Given the description of an element on the screen output the (x, y) to click on. 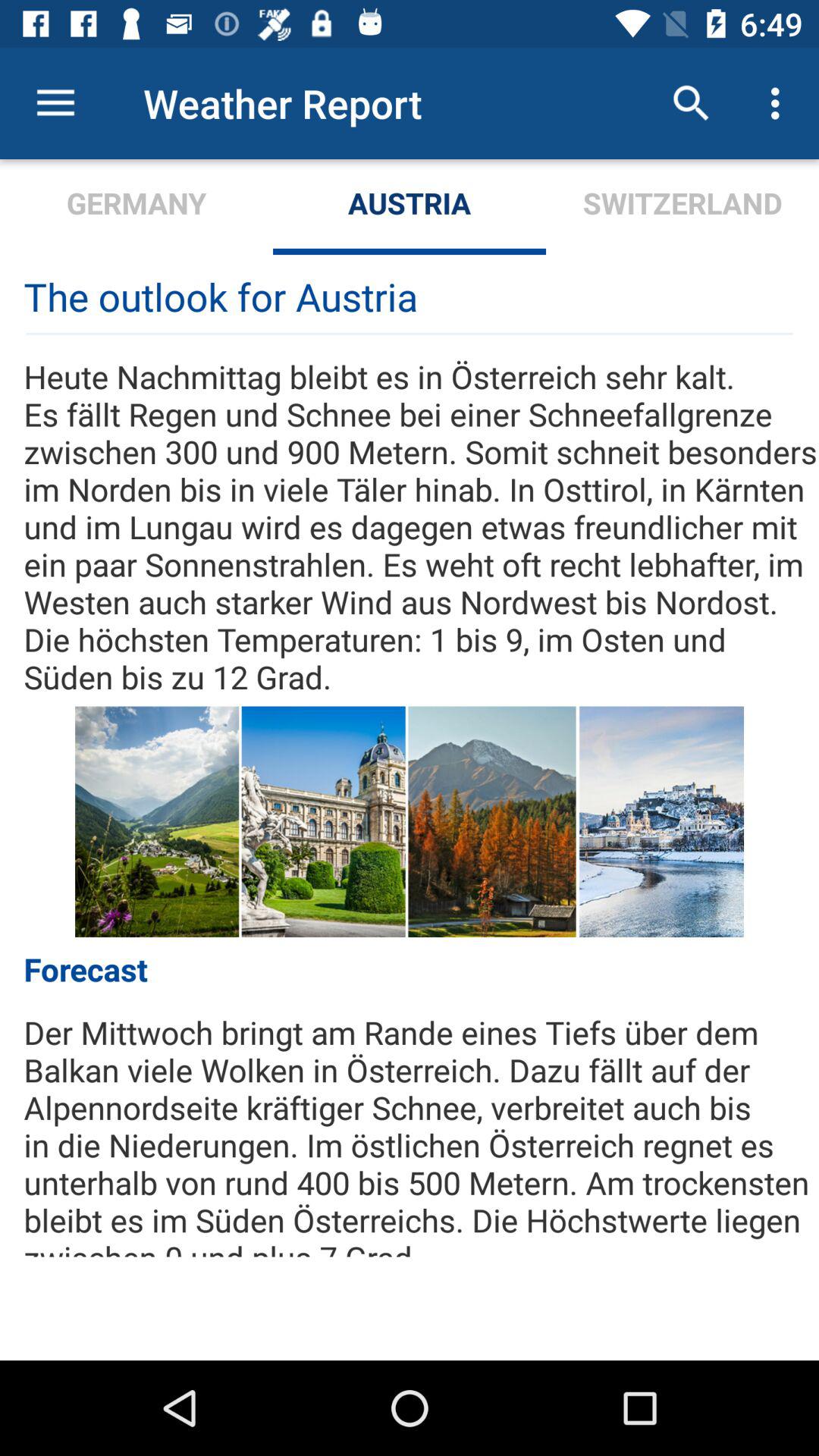
open the icon to the left of the weather report (55, 103)
